Given the description of an element on the screen output the (x, y) to click on. 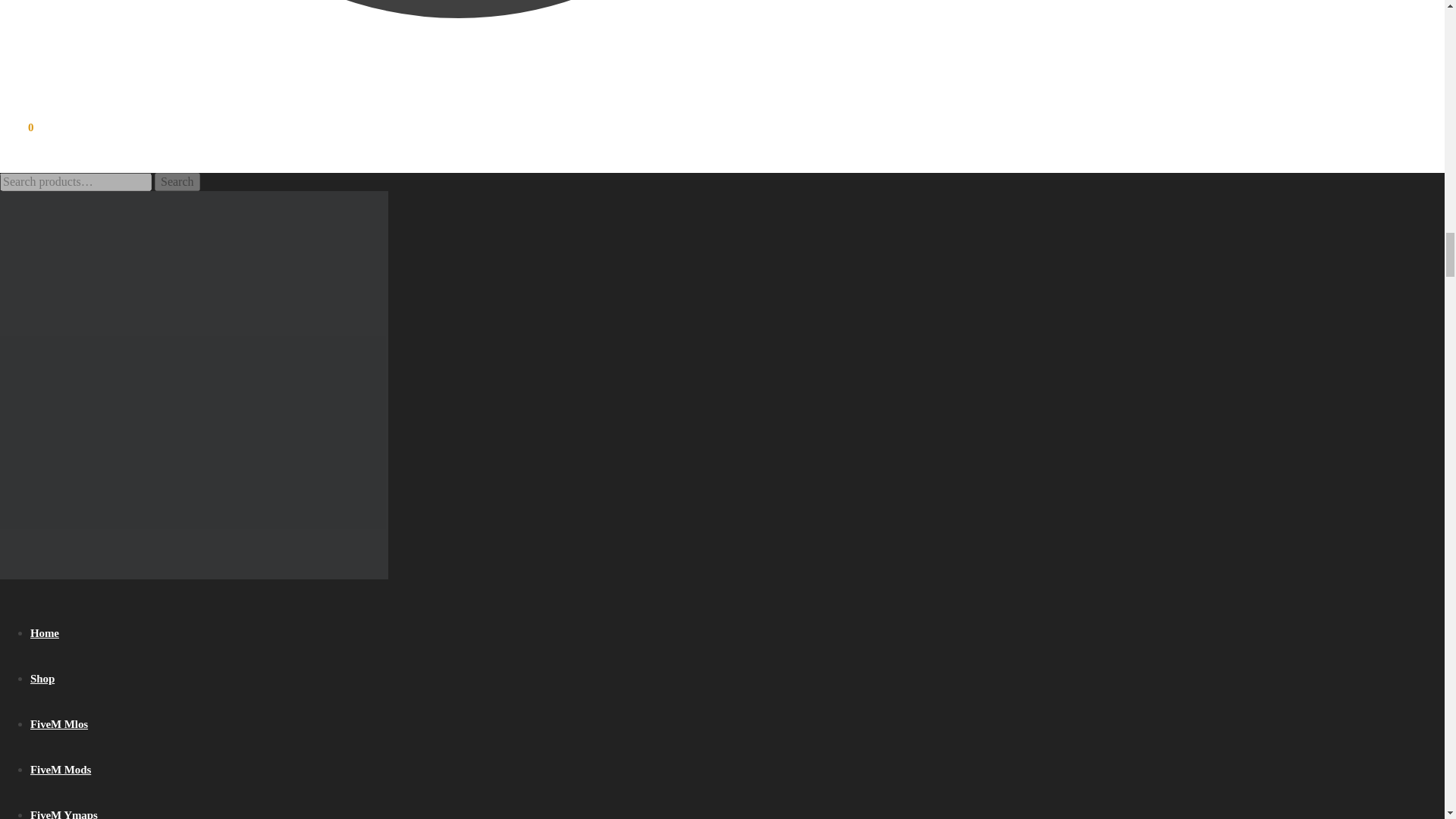
Search (177, 181)
View your shopping cart (16, 127)
FiveM Ymaps (63, 814)
FiveM Mlos (58, 724)
Checkout (458, 46)
Home (44, 633)
Shop (42, 678)
FiveM Mods (60, 769)
